Given the description of an element on the screen output the (x, y) to click on. 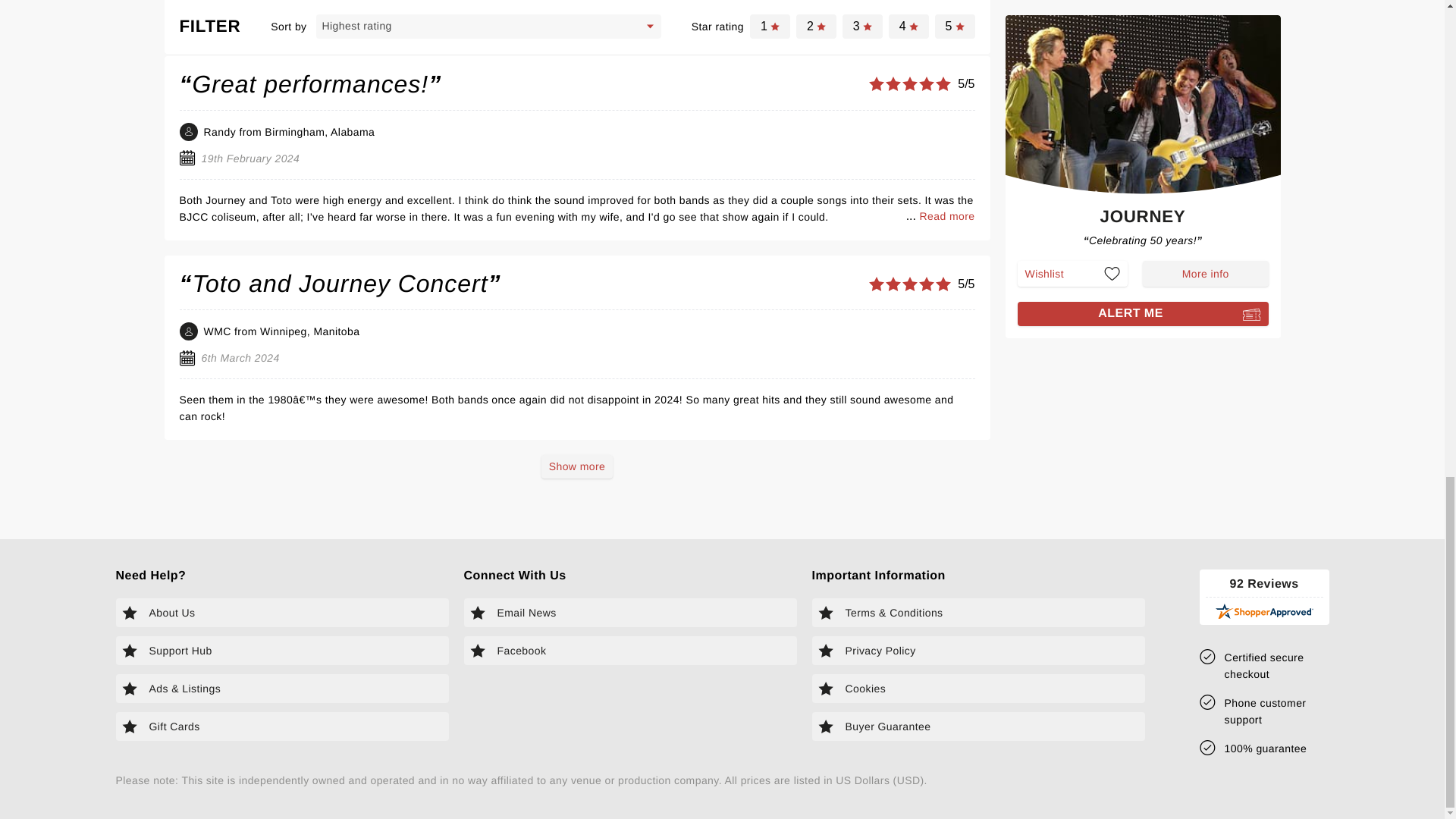
Read more (946, 216)
Read more (946, 16)
Show more (576, 466)
About Us (281, 612)
Gift Cards (281, 726)
Support Hub (281, 650)
